Given the description of an element on the screen output the (x, y) to click on. 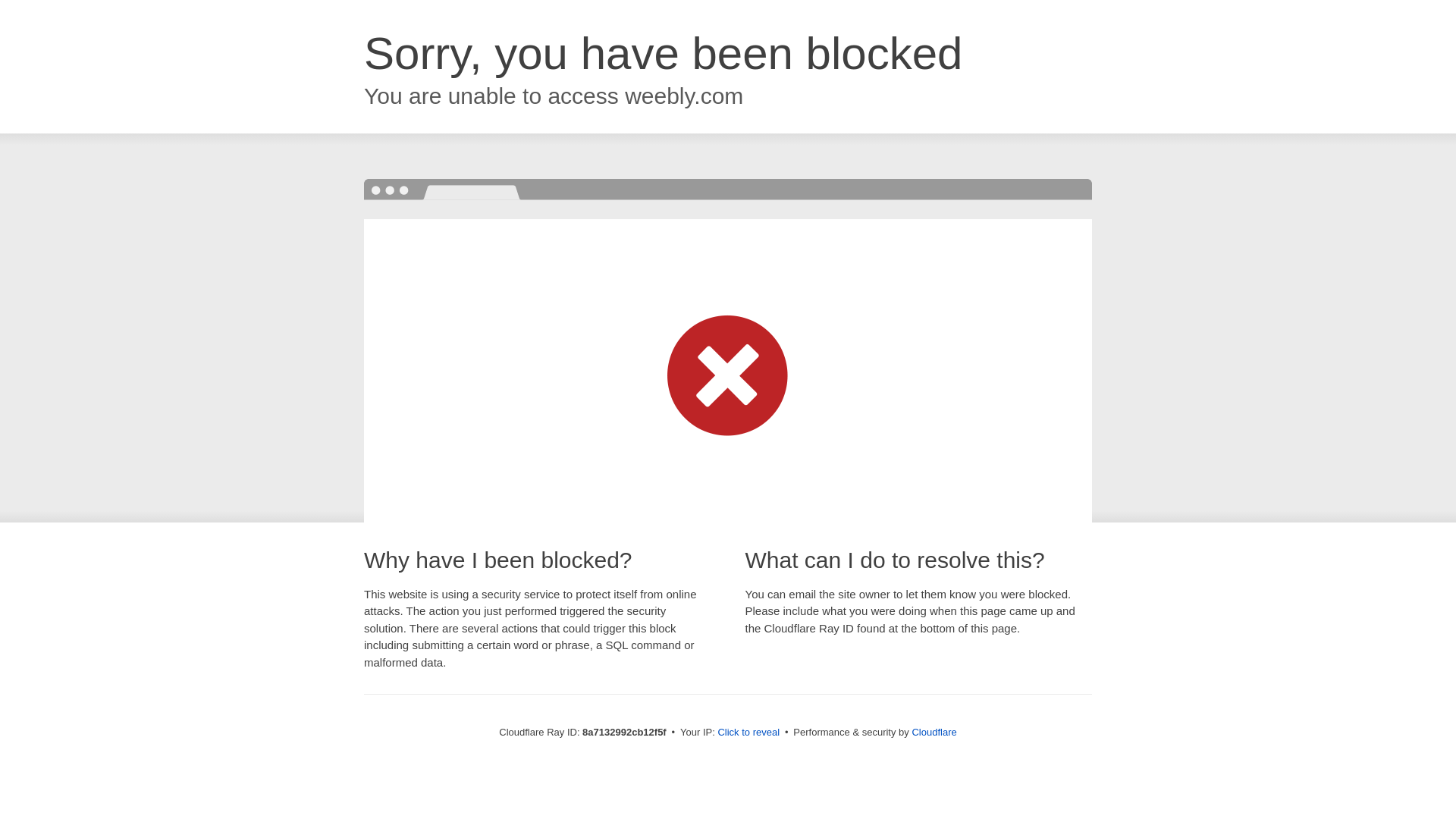
Click to reveal (747, 732)
Cloudflare (933, 731)
